Given the description of an element on the screen output the (x, y) to click on. 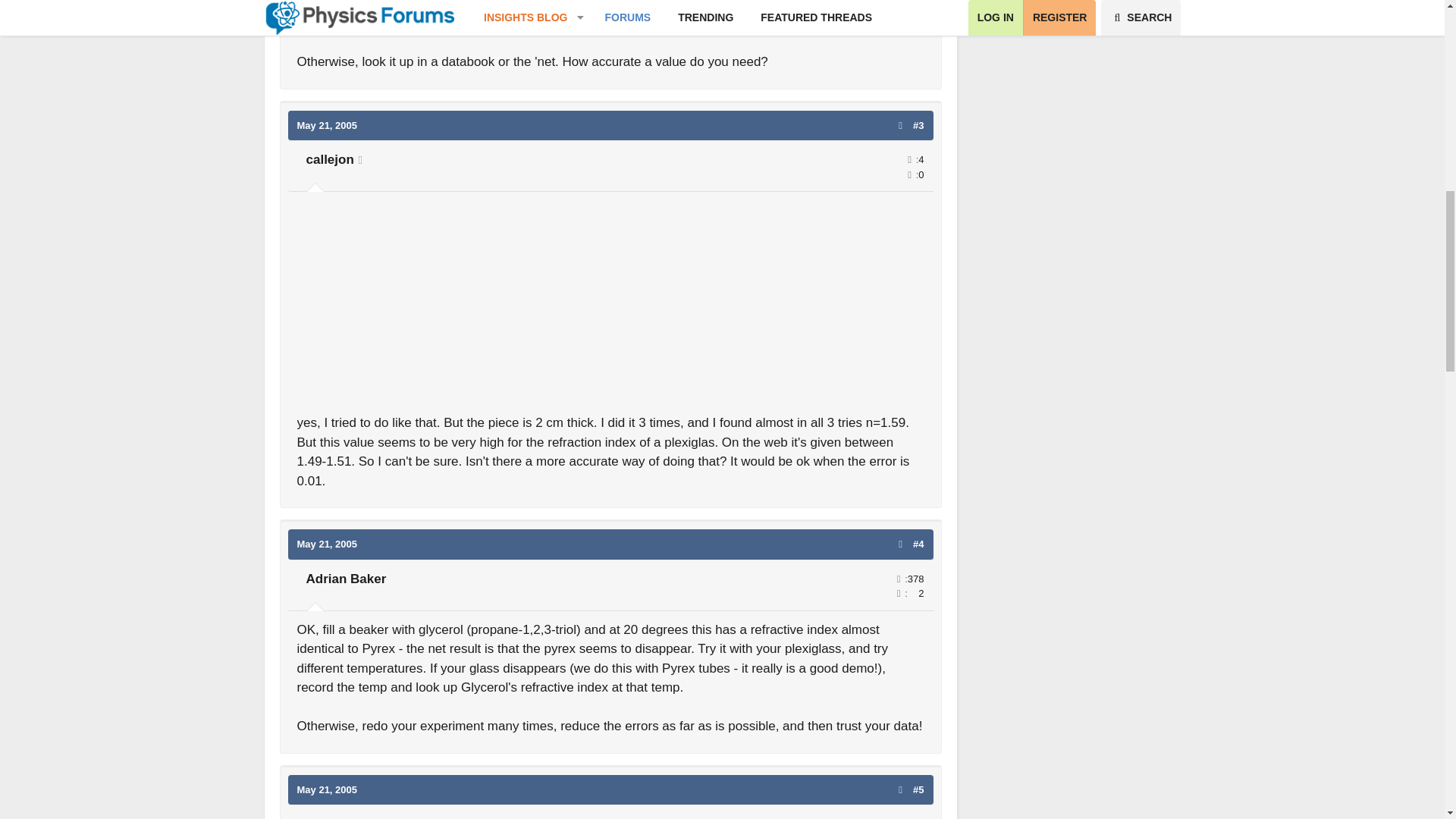
May 21, 2005 at 3:12 PM (327, 125)
Reaction score (908, 174)
Messages (898, 578)
Messages (908, 159)
May 21, 2005 at 3:22 PM (327, 543)
